Given the description of an element on the screen output the (x, y) to click on. 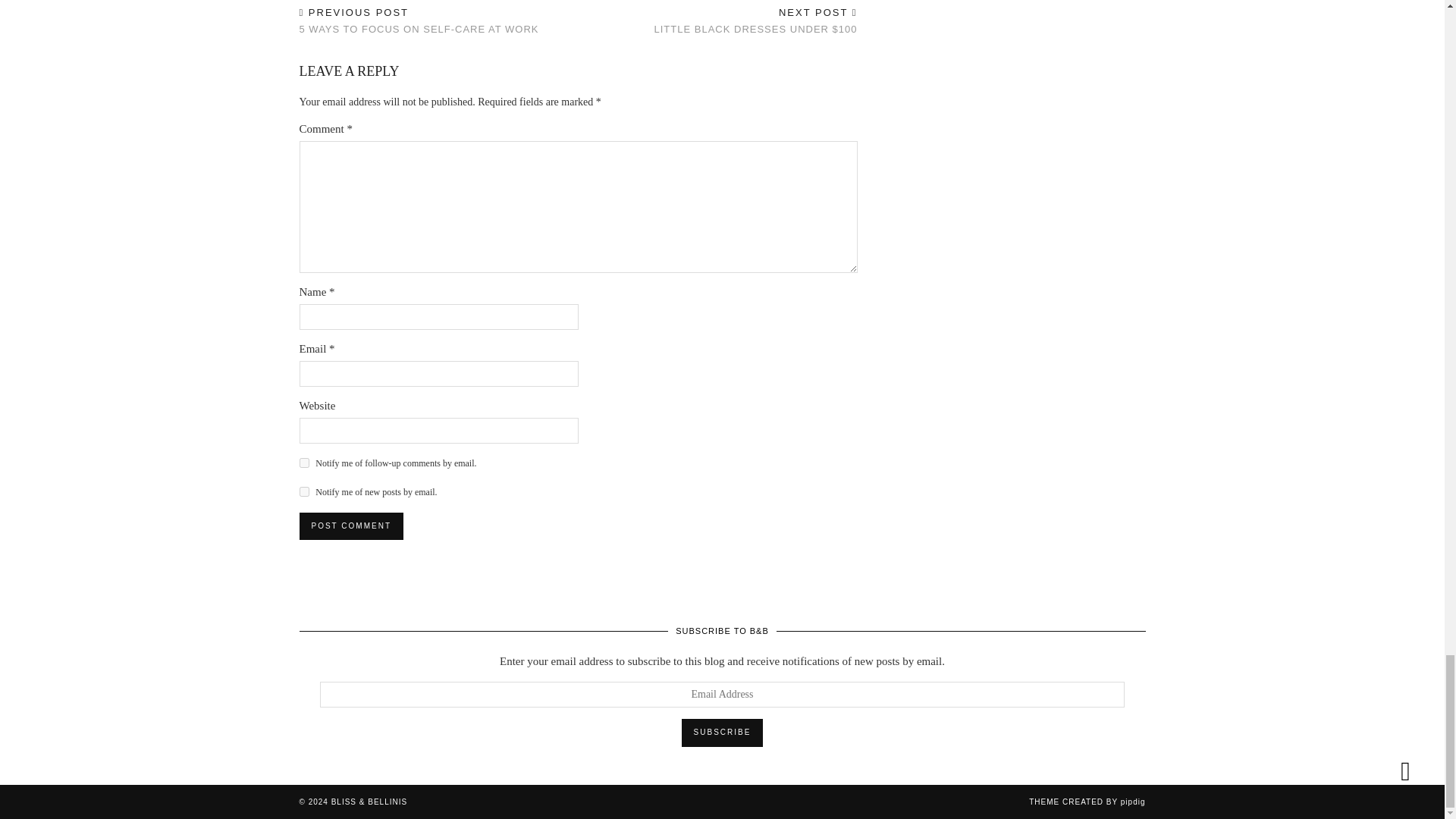
Post Comment (350, 525)
Post Comment (350, 525)
subscribe (303, 491)
subscribe (303, 462)
